Given the description of an element on the screen output the (x, y) to click on. 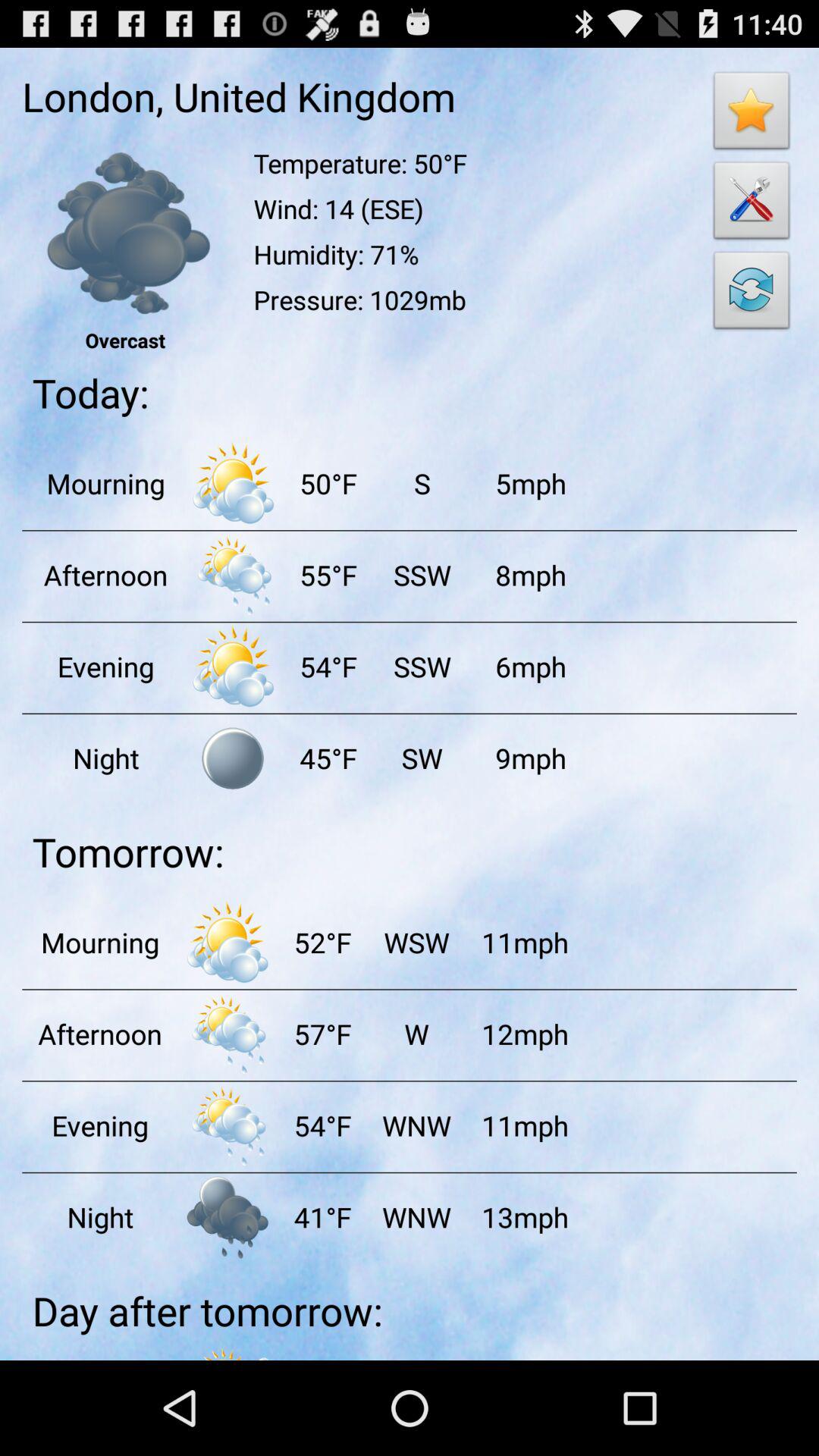
bookmark (751, 114)
